Given the description of an element on the screen output the (x, y) to click on. 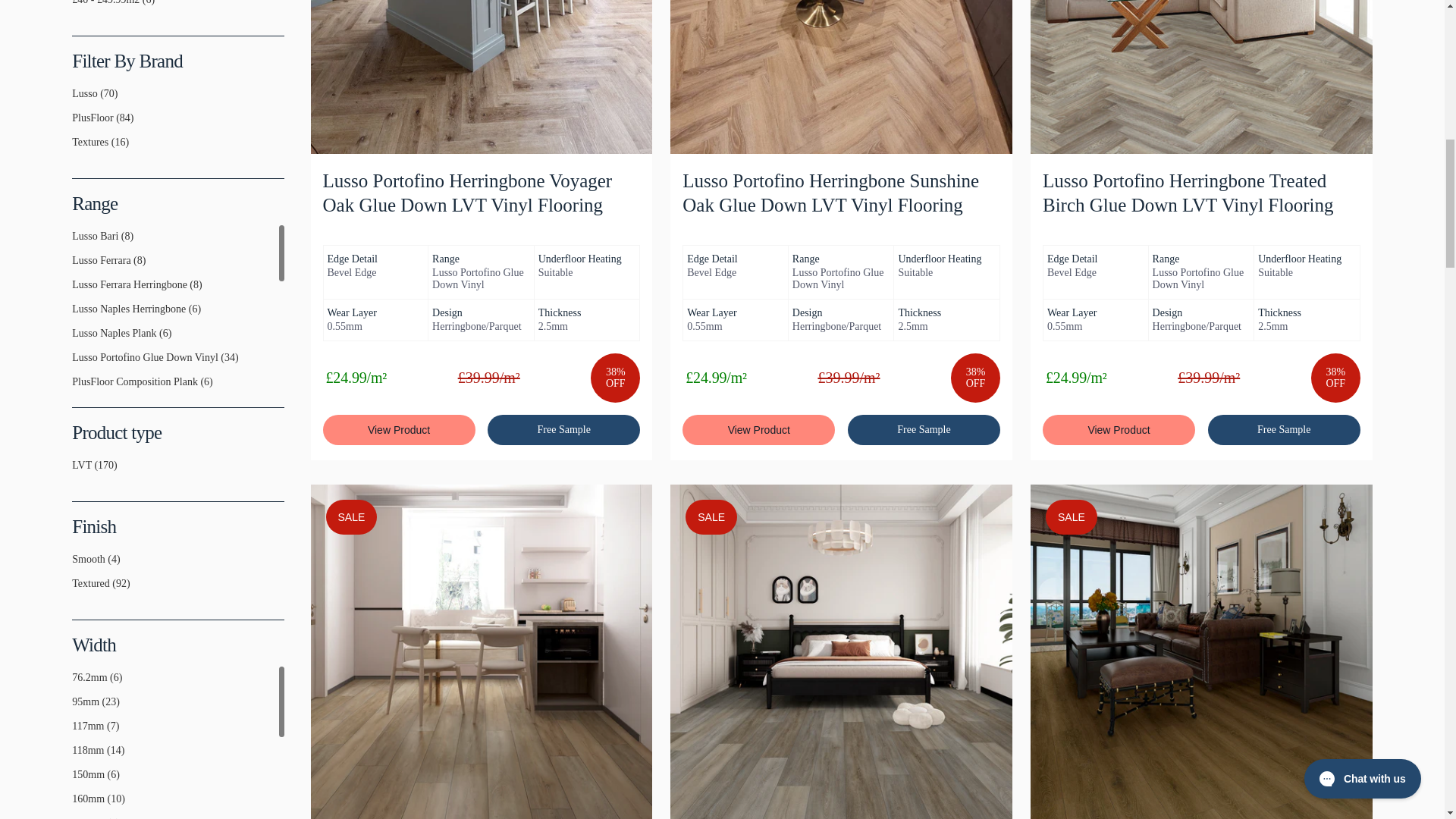
Lusso (77, 100)
Lusso Bari (77, 242)
Lusso Ferrara (77, 266)
Lusso Portofino Glue Down Vinyl (77, 363)
PlusFloor Composition Tile (77, 412)
Lusso Naples Herringbone (77, 315)
Lusso Ferrara Herringbone (77, 291)
PlusFloor Elements Plank (77, 460)
PlusFloor Composition Plank (77, 387)
PlusFloor Elements Herringbone (77, 436)
Textures (77, 148)
PlusFloor (77, 123)
Lusso Naples Plank (77, 339)
